Given the description of an element on the screen output the (x, y) to click on. 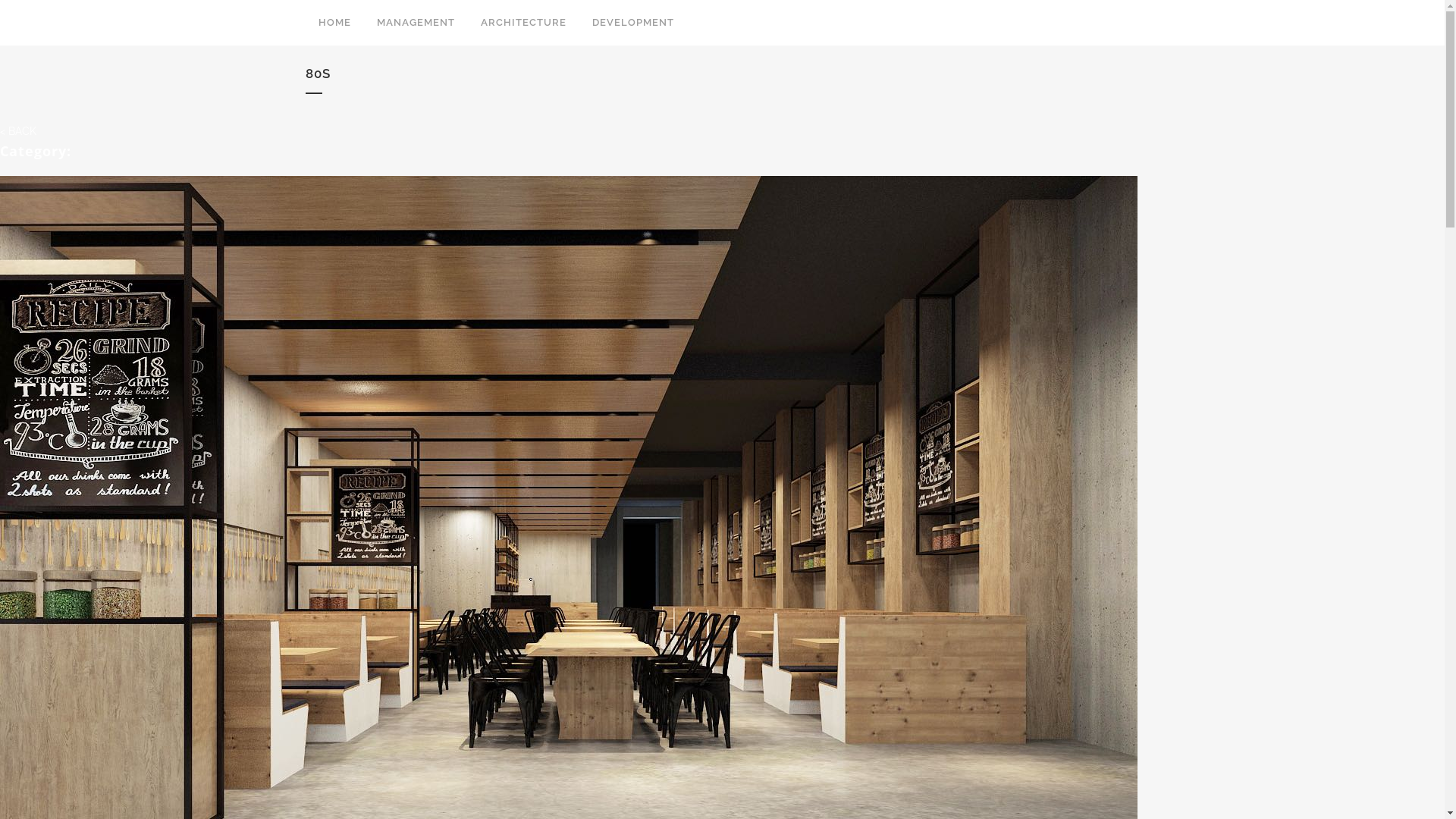
ARCHITECTURE Element type: text (522, 22)
DEVELOPMENT Element type: text (633, 22)
< BACK Element type: text (18, 131)
HOME Element type: text (333, 22)
MANAGEMENT Element type: text (415, 22)
